Given the description of an element on the screen output the (x, y) to click on. 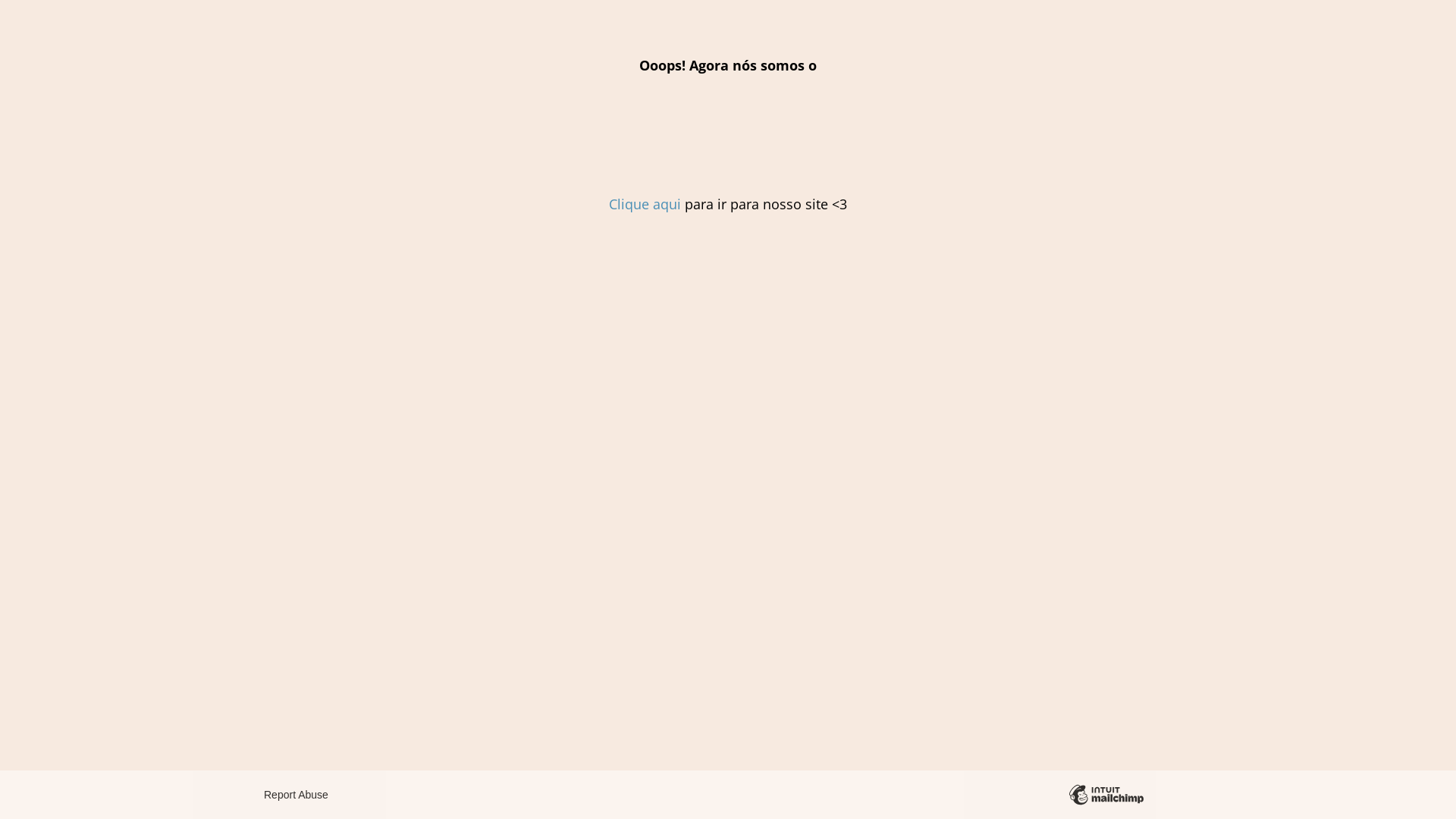
Report Abuse Element type: text (295, 794)
Clique aqui Element type: text (644, 203)
